Given the description of an element on the screen output the (x, y) to click on. 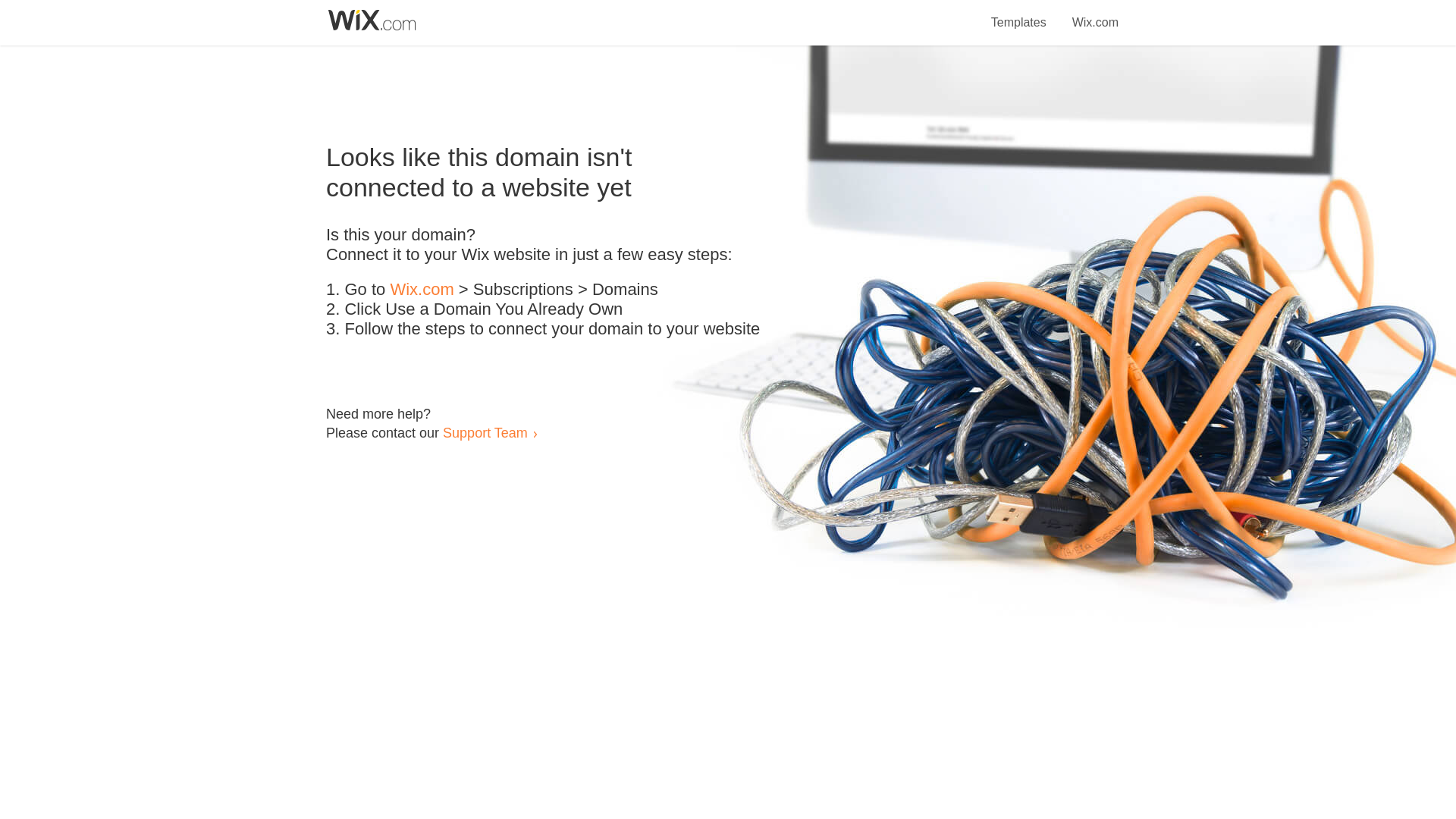
Support Team (484, 432)
Wix.com (421, 289)
Wix.com (1095, 14)
Templates (1018, 14)
